Given the description of an element on the screen output the (x, y) to click on. 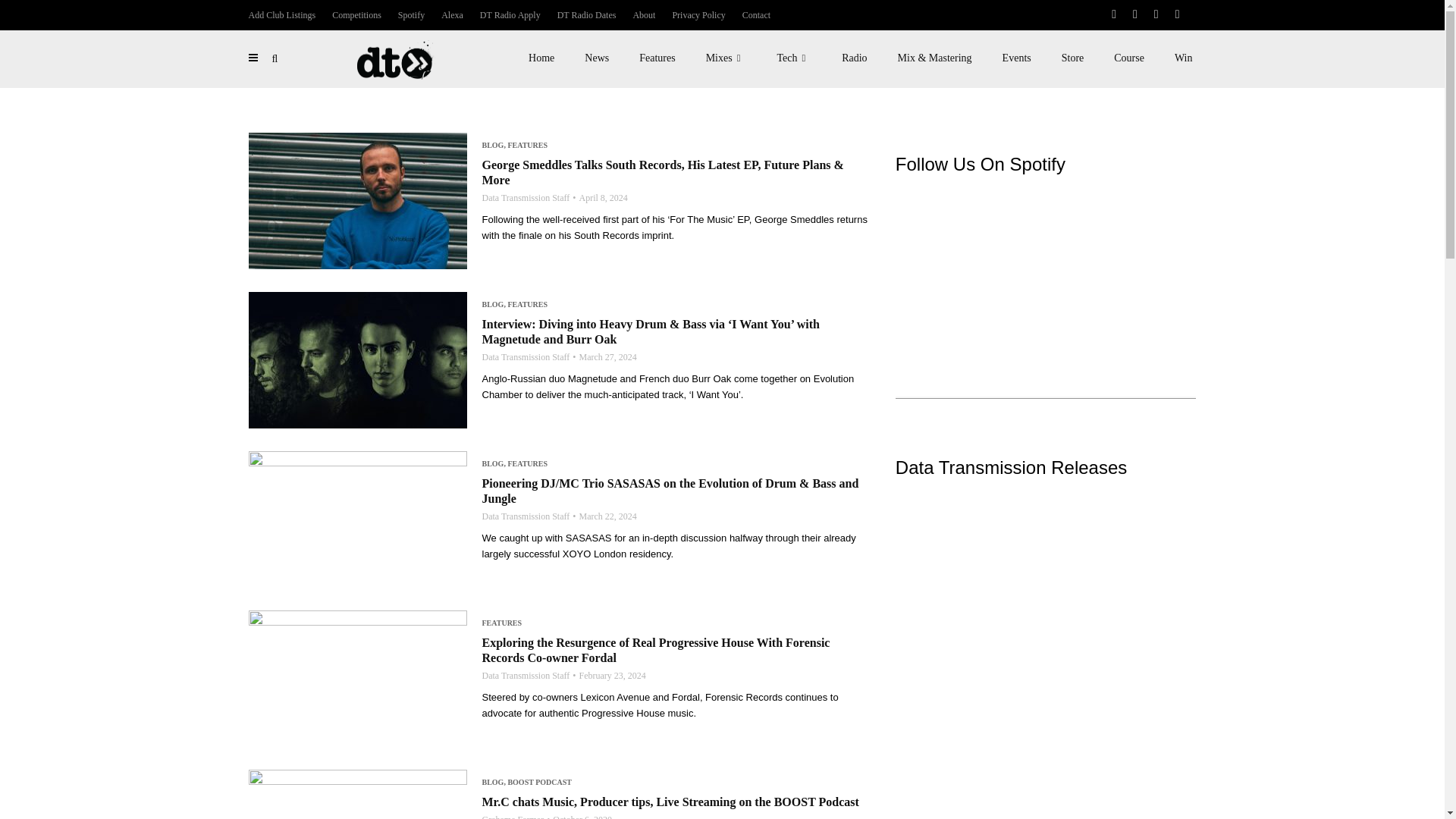
Tech (794, 57)
Home (541, 57)
Radio (854, 57)
Features (657, 57)
Course (1128, 57)
Spotify Embed: New Dance Music Friday (1045, 260)
Store (1072, 57)
News (596, 57)
Events (1016, 57)
Mixes (725, 57)
